Given the description of an element on the screen output the (x, y) to click on. 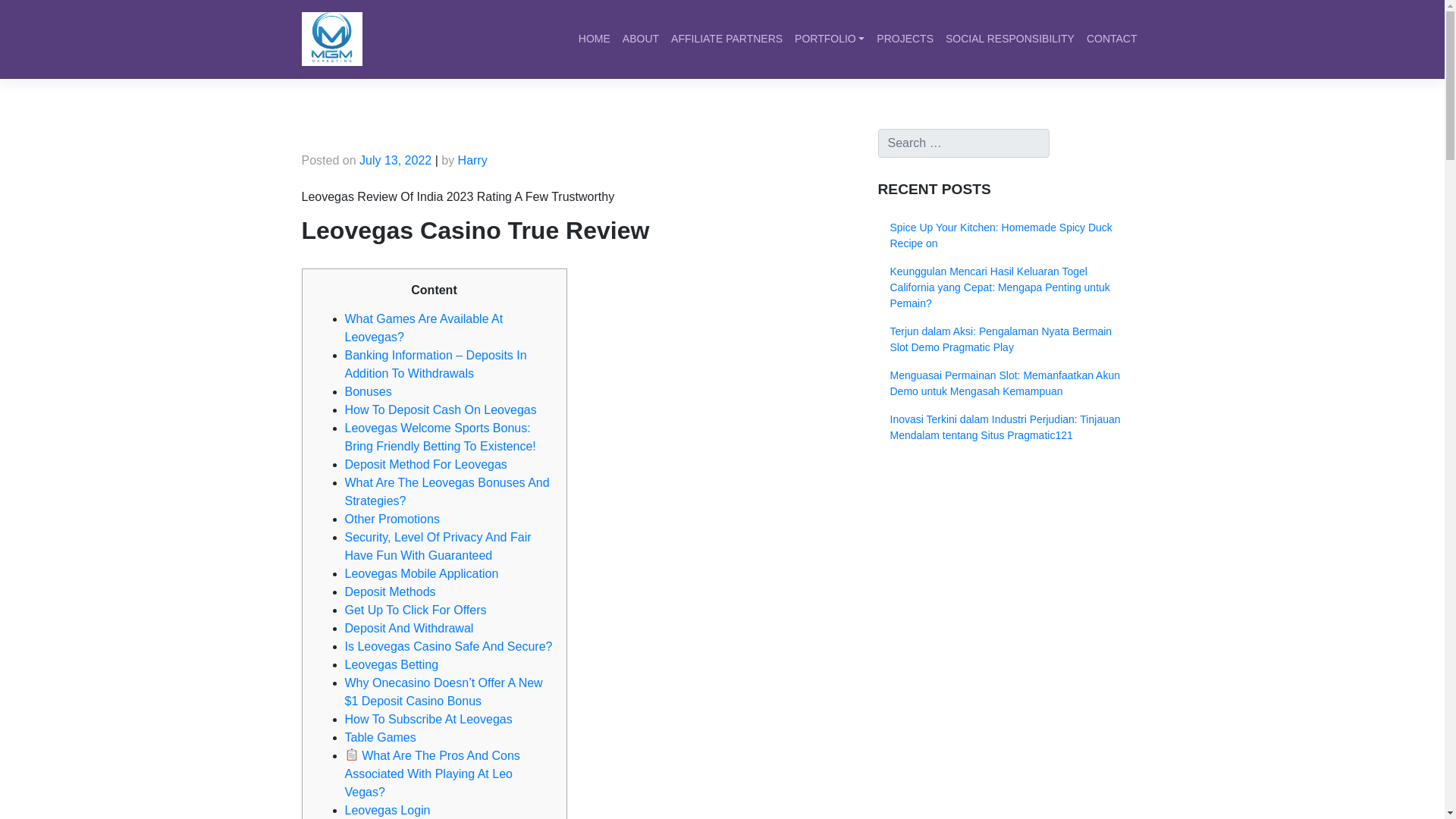
Get Up To Click For Offers (414, 609)
Search for: (963, 143)
July 13, 2022 (394, 160)
Other Promotions (391, 518)
Projects (904, 39)
SOCIAL RESPONSIBILITY (1009, 39)
Table Games (378, 737)
Affiliate Partners (727, 39)
ABOUT (640, 39)
Deposit And Withdrawal (408, 627)
Deposit Method For Leovegas (424, 463)
PORTFOLIO (829, 39)
Leovegas Login (386, 809)
Leovegas Mobile Application (420, 573)
